Given the description of an element on the screen output the (x, y) to click on. 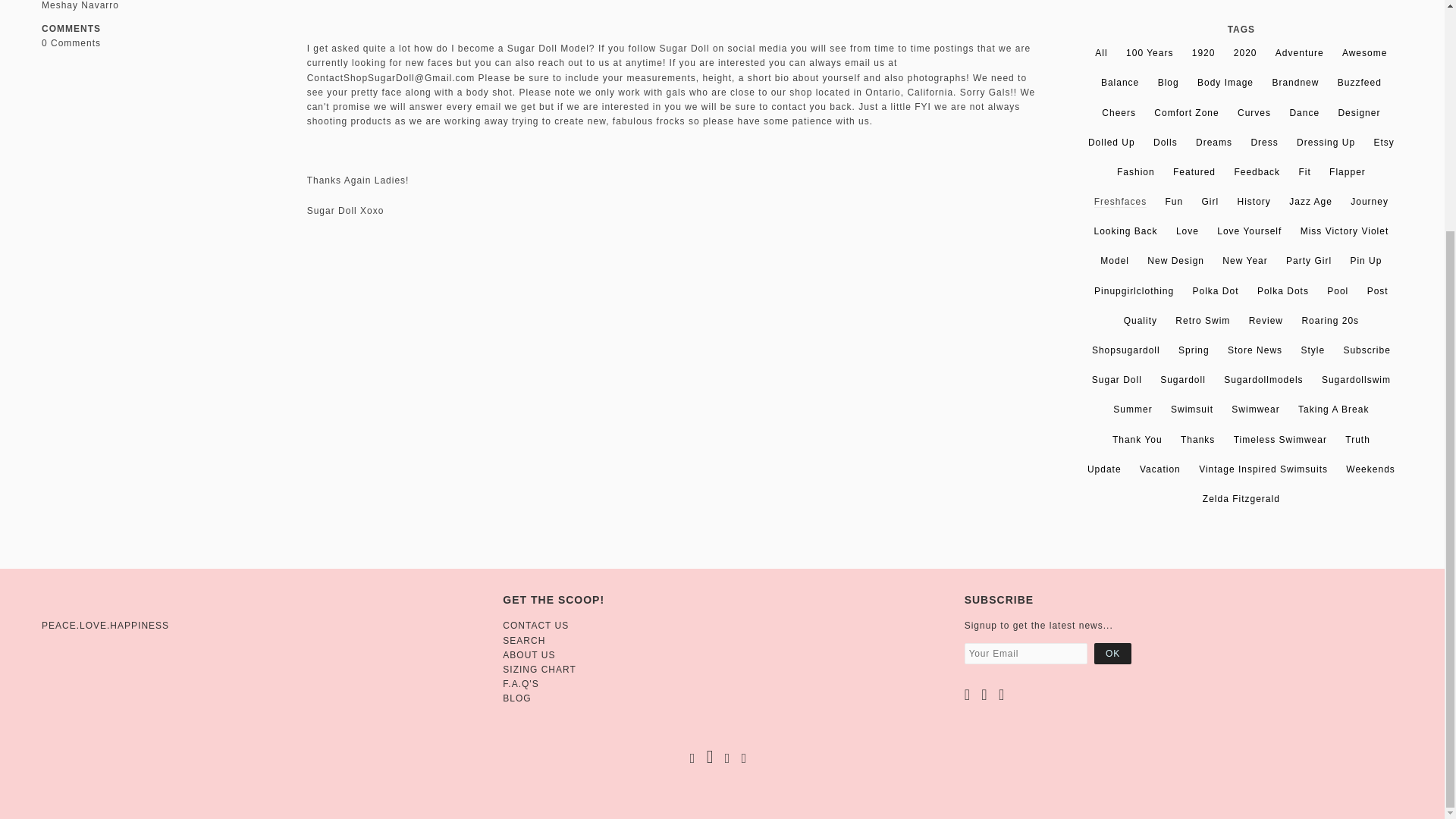
100 Years (1149, 52)
Narrow search to articles also having tag awesome (1364, 52)
Narrow search to articles also having tag 1920 (1203, 52)
Narrow search to articles also having tag body image (1224, 81)
Narrow search to articles also having tag balance (1119, 81)
OK (1112, 653)
Narrow search to articles also having tag buzzfeed (1359, 81)
Narrow search to articles also having tag adventure (1299, 52)
Narrow search to articles also having tag blog (1168, 81)
Narrow search to articles also having tag cheers (1118, 112)
Narrow search to articles also having tag 2020 (1245, 52)
Narrow search to articles also having tag brandnew (1295, 81)
Narrow search to articles also having tag comfort zone (1186, 112)
Narrow search to articles also having tag 100 years (1149, 52)
Narrow search to articles also having tag curves (1254, 112)
